Given the description of an element on the screen output the (x, y) to click on. 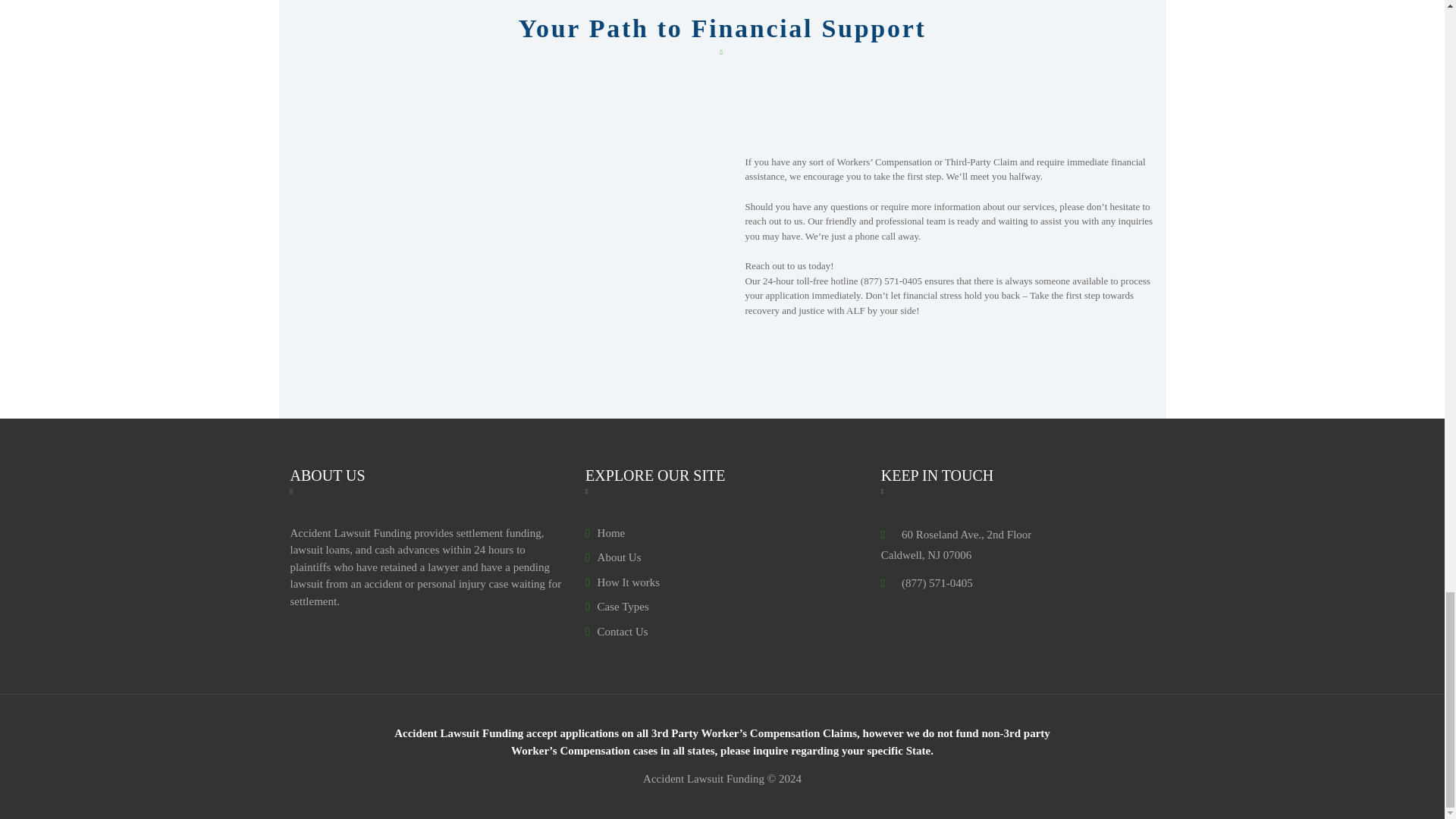
How It works (622, 582)
Case Types (617, 606)
About Us (612, 557)
Home (604, 532)
